Given the description of an element on the screen output the (x, y) to click on. 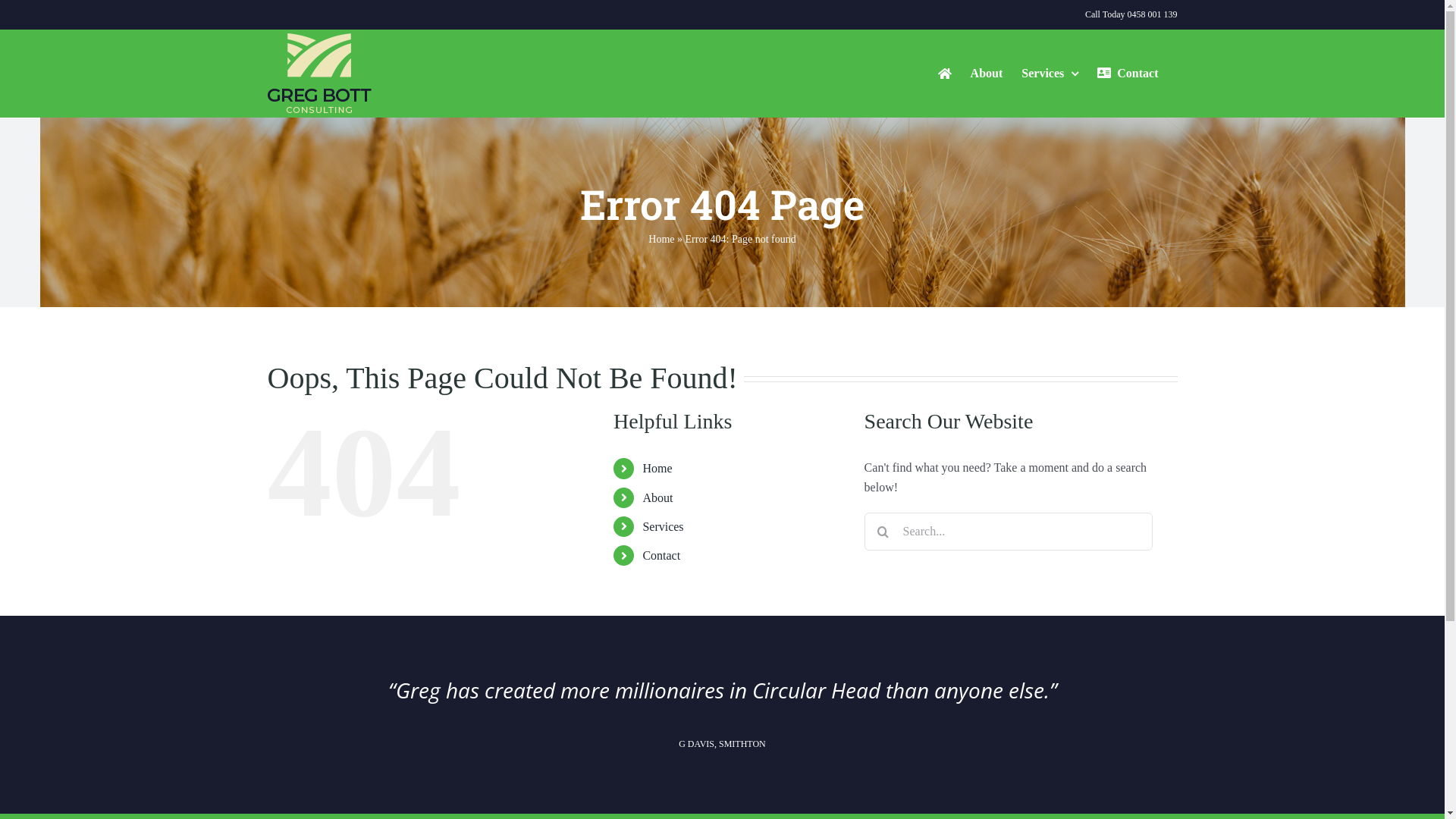
Contact Element type: text (661, 555)
Contact Element type: text (1127, 72)
Services Element type: text (662, 526)
Home Element type: text (656, 467)
Services Element type: text (1049, 72)
About Element type: text (657, 497)
About Element type: text (986, 72)
Home Element type: text (661, 238)
